Given the description of an element on the screen output the (x, y) to click on. 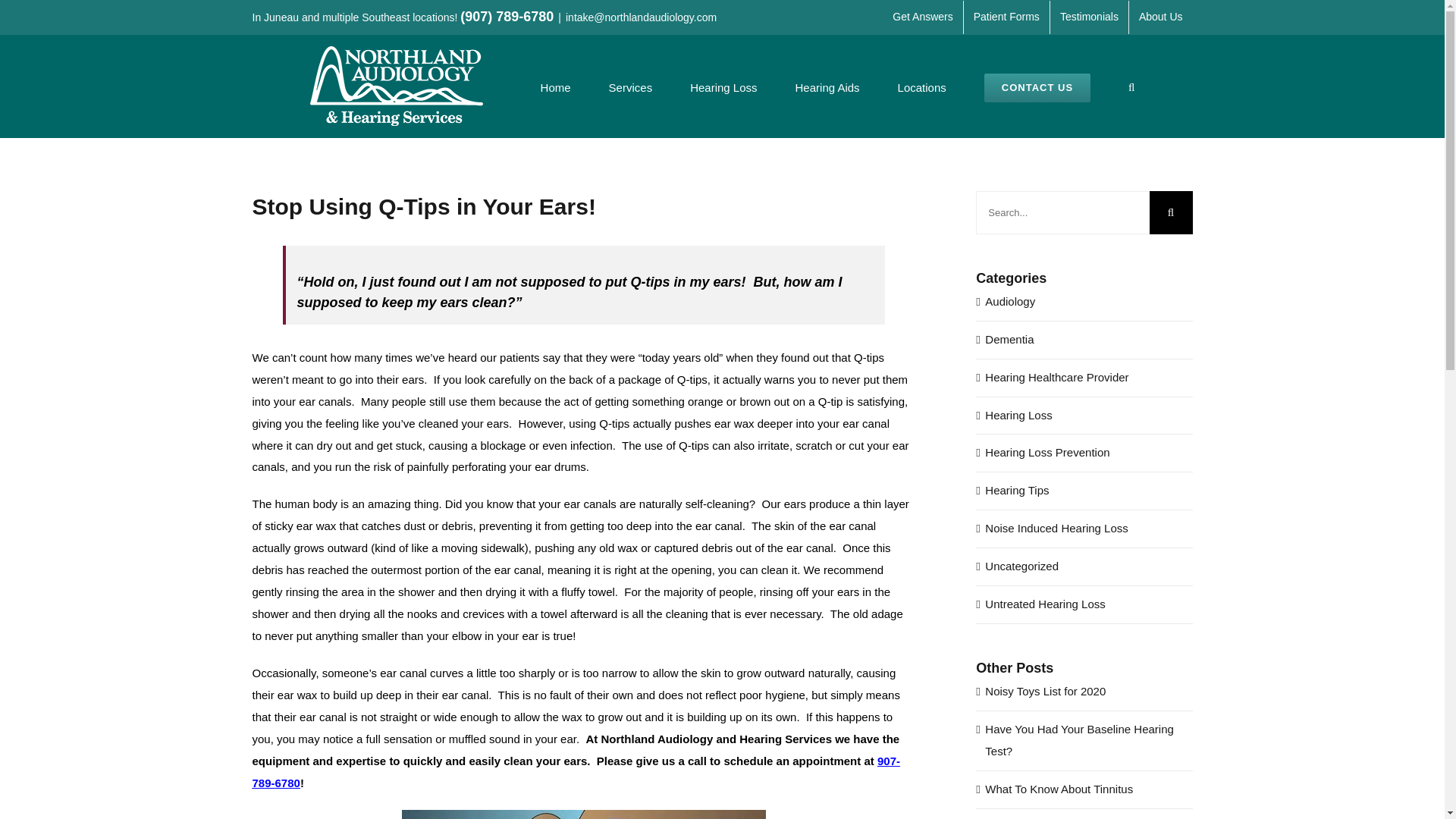
About Us (1160, 16)
Get Answers (922, 16)
CONTACT US (1037, 85)
Patient Forms (1006, 16)
Hearing Loss (723, 85)
Hearing Aids (827, 85)
Testimonials (1088, 16)
